Given the description of an element on the screen output the (x, y) to click on. 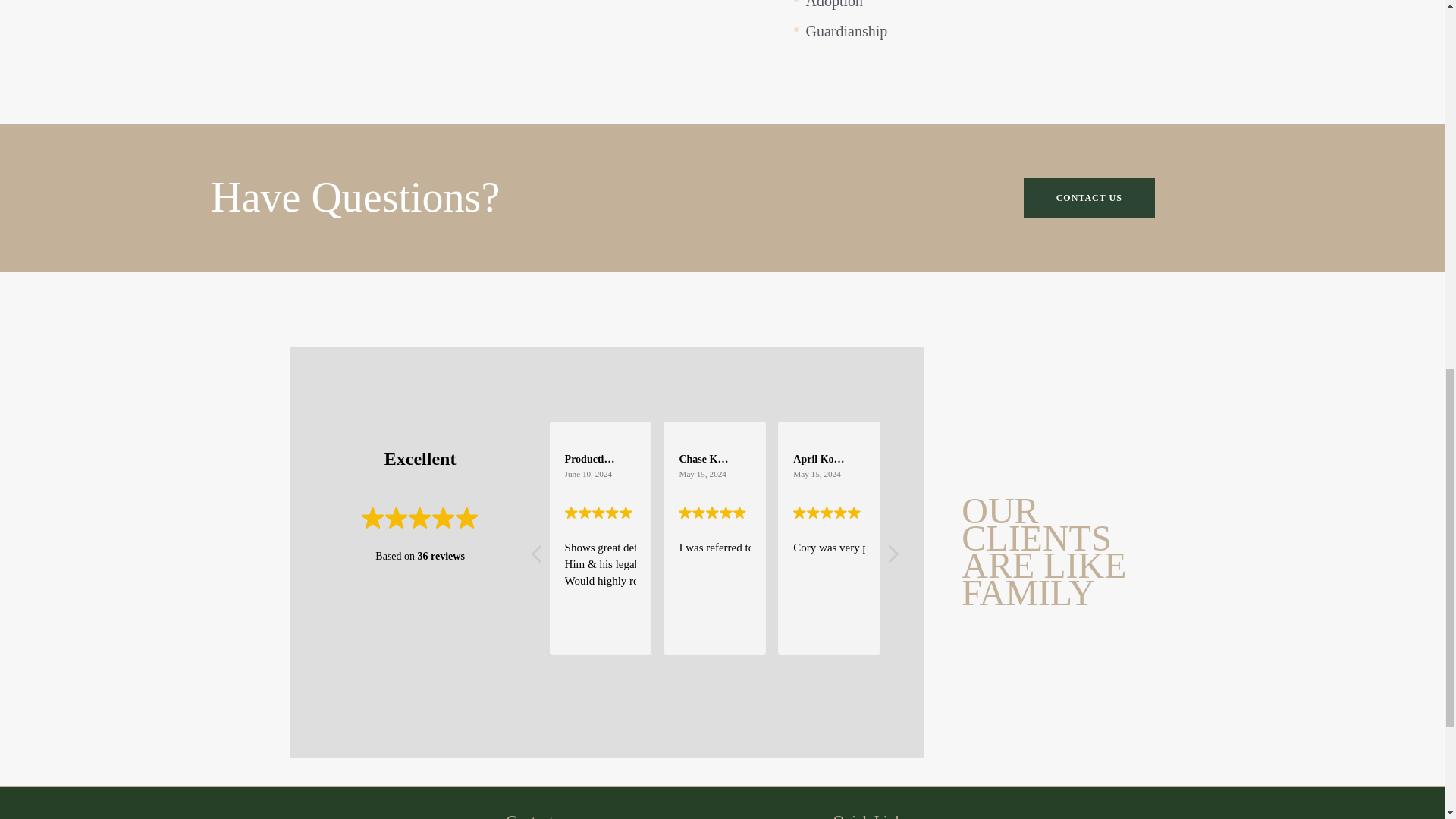
CONTACT US (1088, 197)
Contact (529, 816)
